Given the description of an element on the screen output the (x, y) to click on. 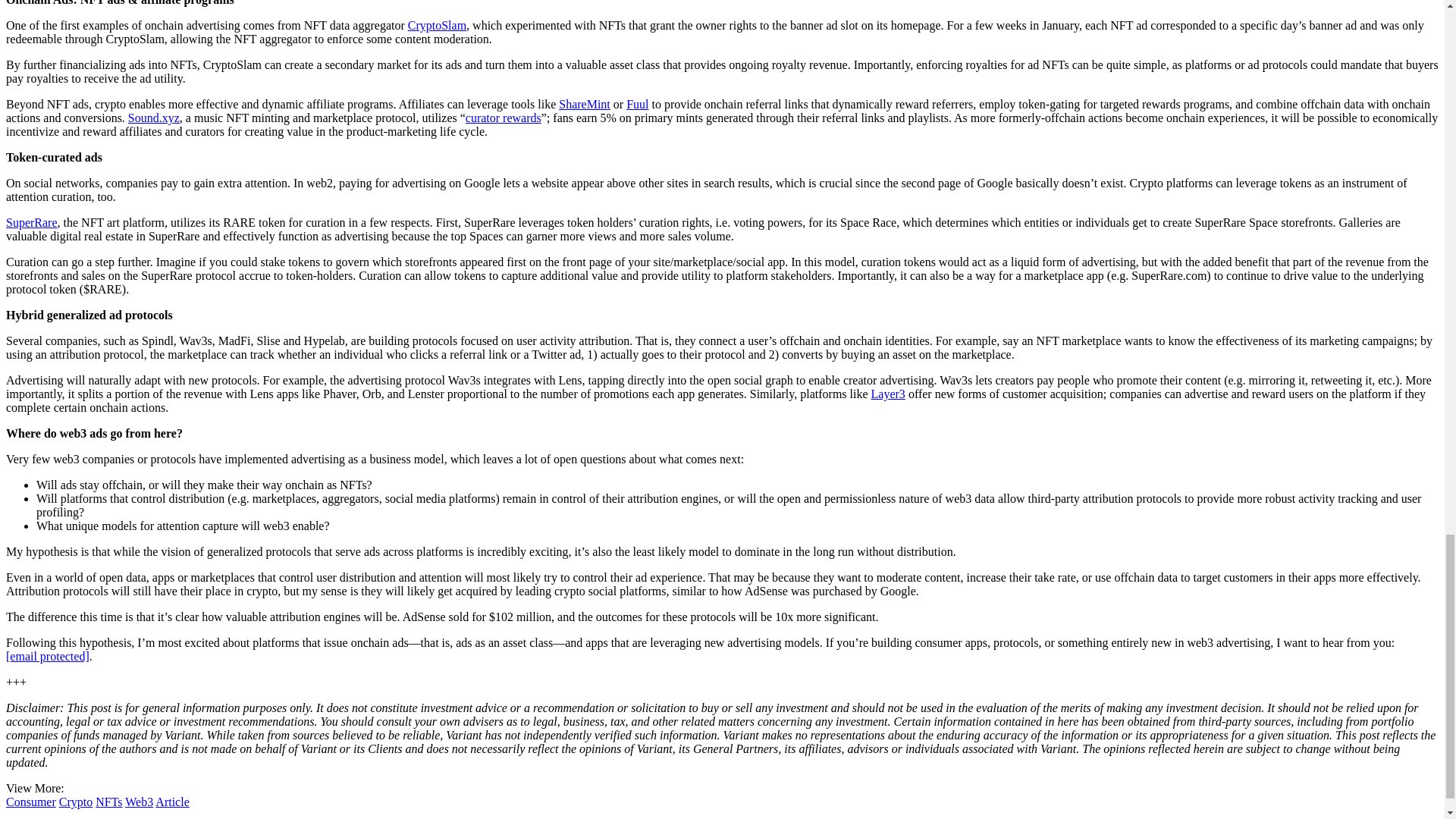
Crypto (76, 801)
Web3 (138, 801)
SuperRare (31, 222)
curator rewards (503, 117)
Layer3 (887, 393)
CryptoSlam (436, 24)
Sound.xyz (153, 117)
Consumer (30, 801)
Article (172, 801)
Fuul (636, 103)
ShareMint (584, 103)
NFTs (109, 801)
